Given the description of an element on the screen output the (x, y) to click on. 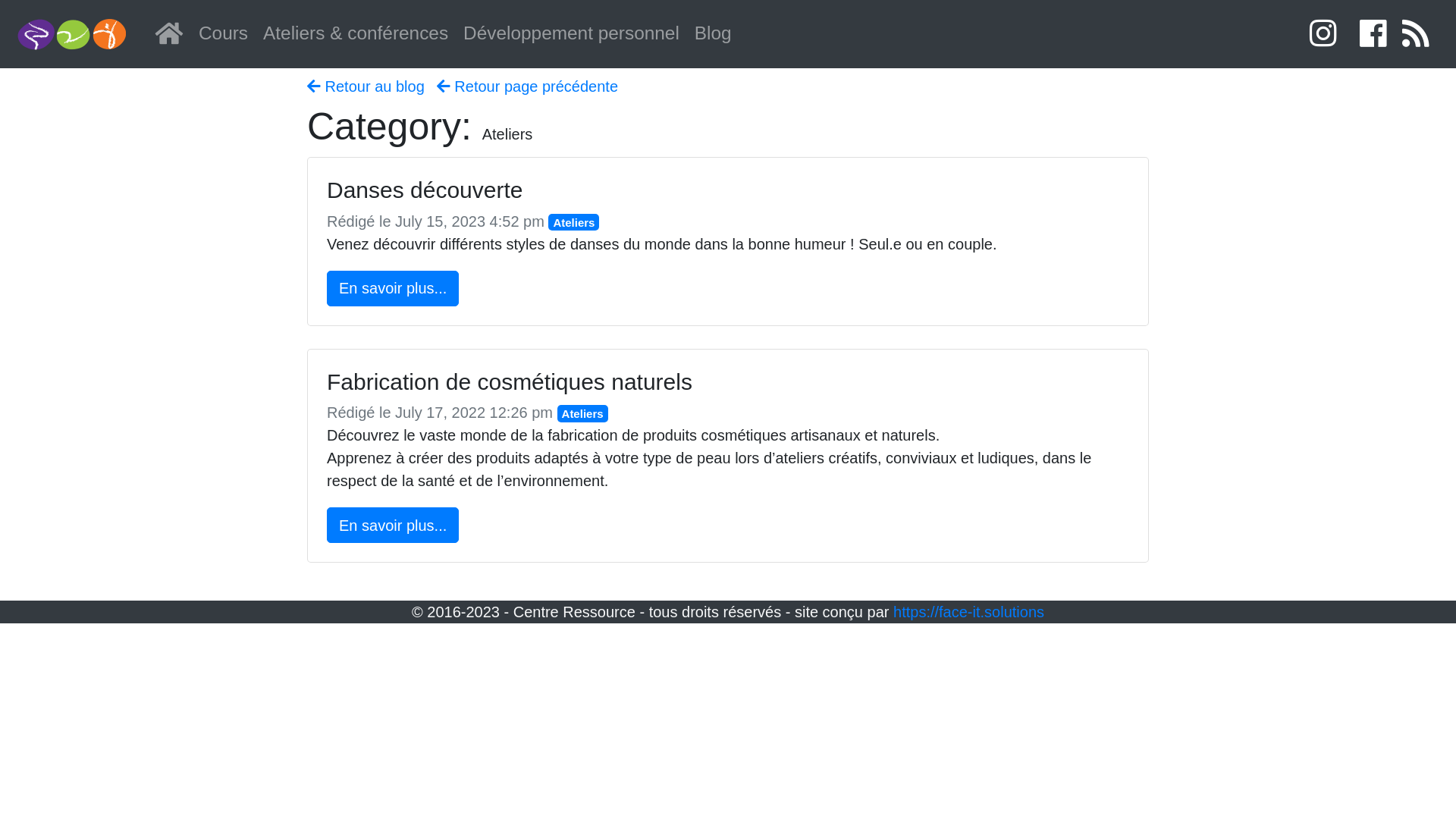
Blog Element type: text (713, 33)
Ateliers Element type: text (573, 222)
S'abonner au flux RSS Element type: hover (1415, 33)
En savoir plus... Element type: text (392, 524)
  Element type: text (1327, 33)
Cours Element type: text (223, 33)
Ateliers Element type: text (582, 413)
 Retour au blog Element type: text (365, 85)
En savoir plus... Element type: text (392, 287)
https://face-it.solutions Element type: text (968, 611)
